Given the description of an element on the screen output the (x, y) to click on. 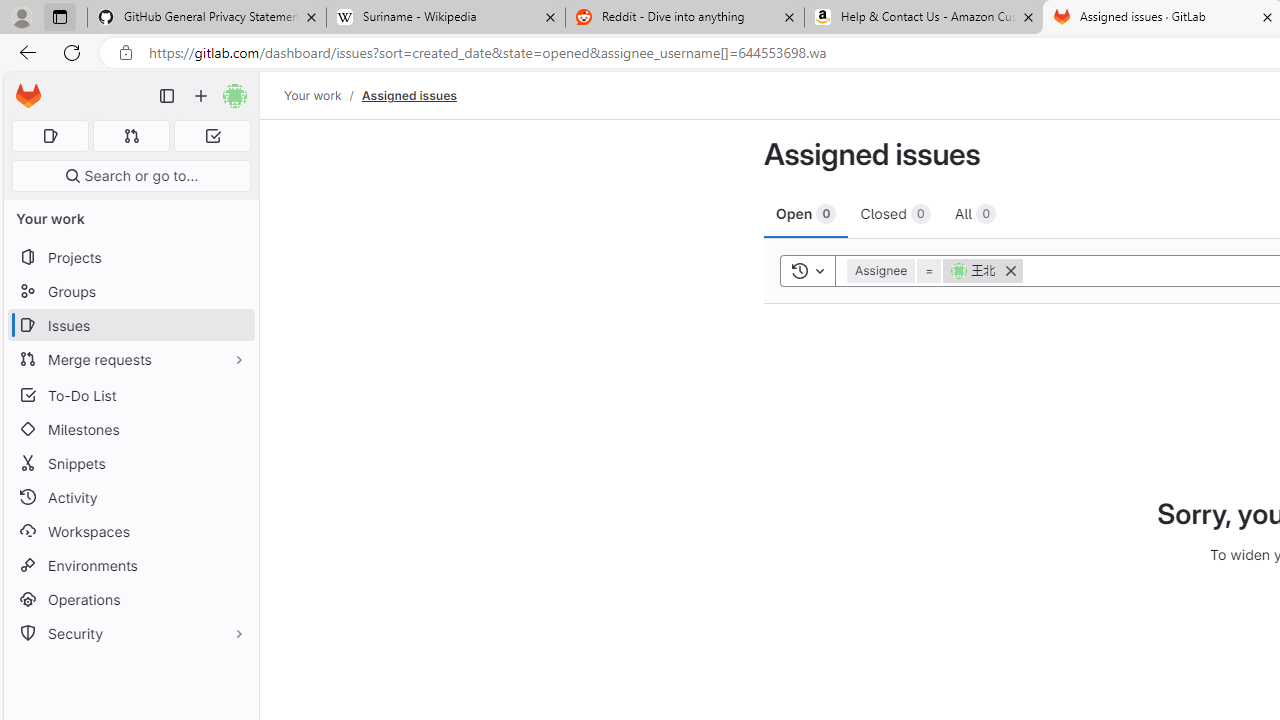
Activity (130, 497)
avatar (959, 270)
Assigned issues (408, 95)
Groups (130, 291)
Milestones (130, 429)
Toggle history (807, 270)
Activity (130, 497)
Issues (130, 325)
Merge requests 0 (131, 136)
Security (130, 633)
Projects (130, 257)
Milestones (130, 429)
